Given the description of an element on the screen output the (x, y) to click on. 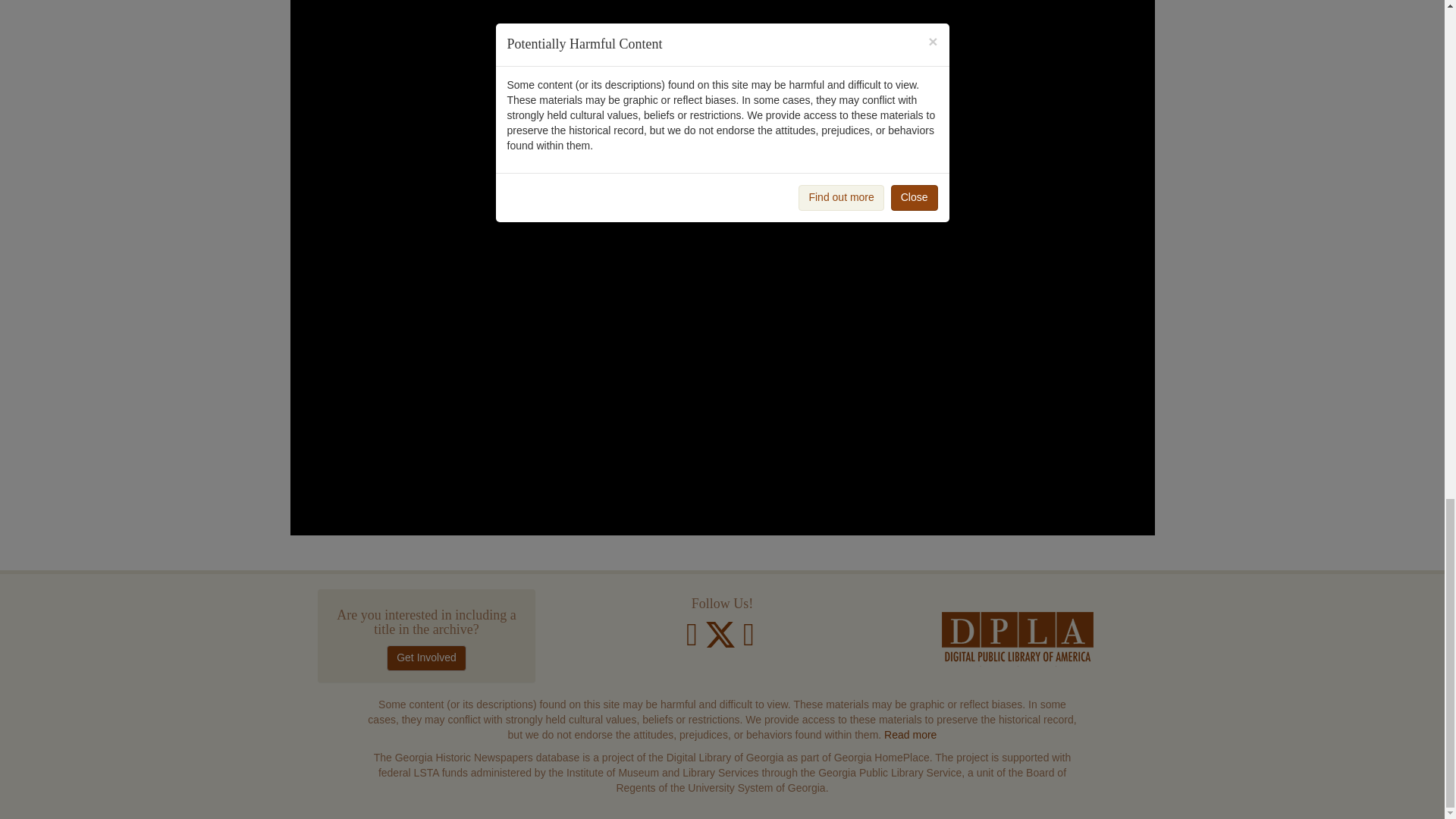
DLG Facebook Link (691, 641)
DPLA Link (1017, 638)
DLG Blog (748, 641)
DLG Twitter Link (721, 641)
